Given the description of an element on the screen output the (x, y) to click on. 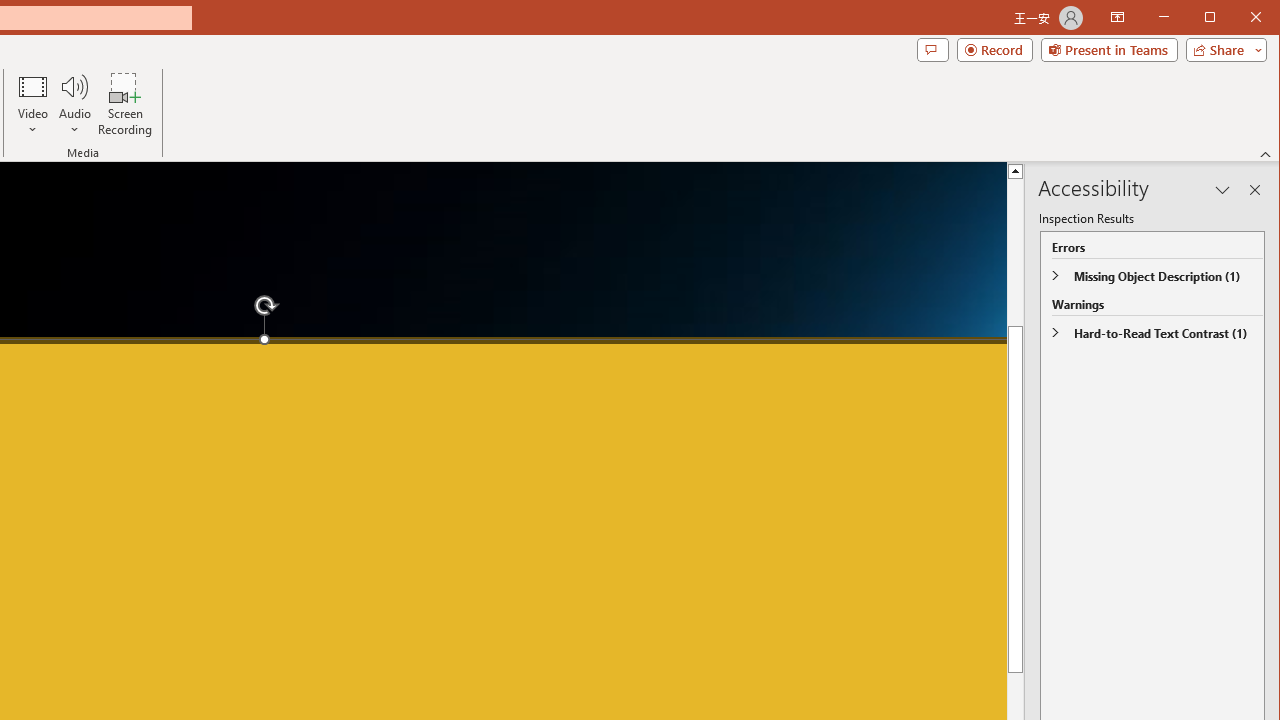
Minimize (1216, 18)
Close pane (1254, 189)
Video (32, 104)
Close (1261, 18)
Ribbon Display Options (1117, 17)
Task Pane Options (1222, 189)
Collapse the Ribbon (1266, 154)
Present in Teams (1108, 49)
Comments (932, 49)
Maximize (1238, 18)
Line up (1015, 170)
Audio (74, 104)
Share (1222, 49)
